Given the description of an element on the screen output the (x, y) to click on. 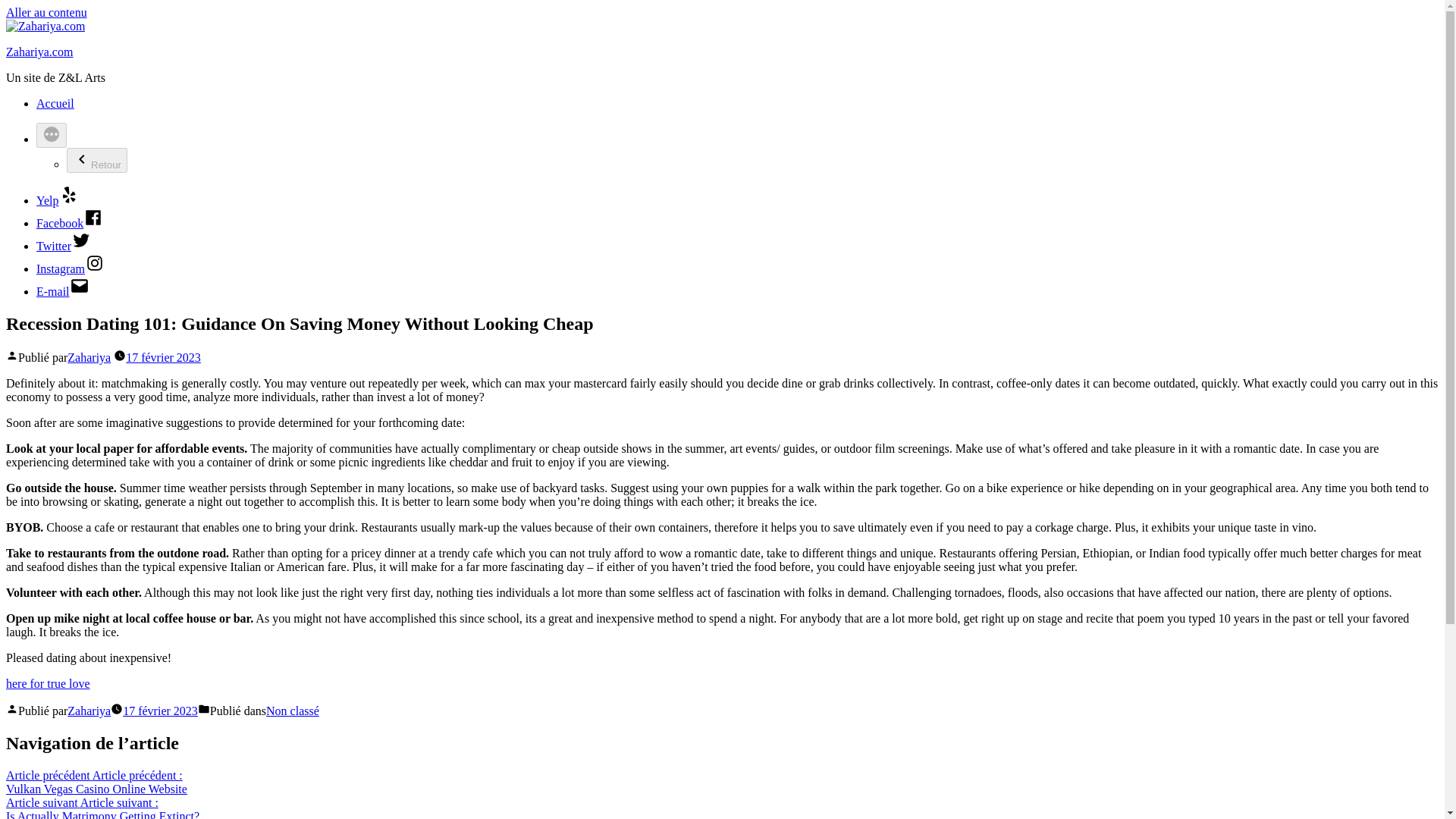
Zahariya.com (38, 51)
Zahariya (88, 710)
Accueil (55, 103)
Retour (97, 160)
Zahariya (88, 357)
Aller au contenu (46, 11)
Facebook (69, 223)
Instagram (70, 268)
Yelp (57, 200)
